Given the description of an element on the screen output the (x, y) to click on. 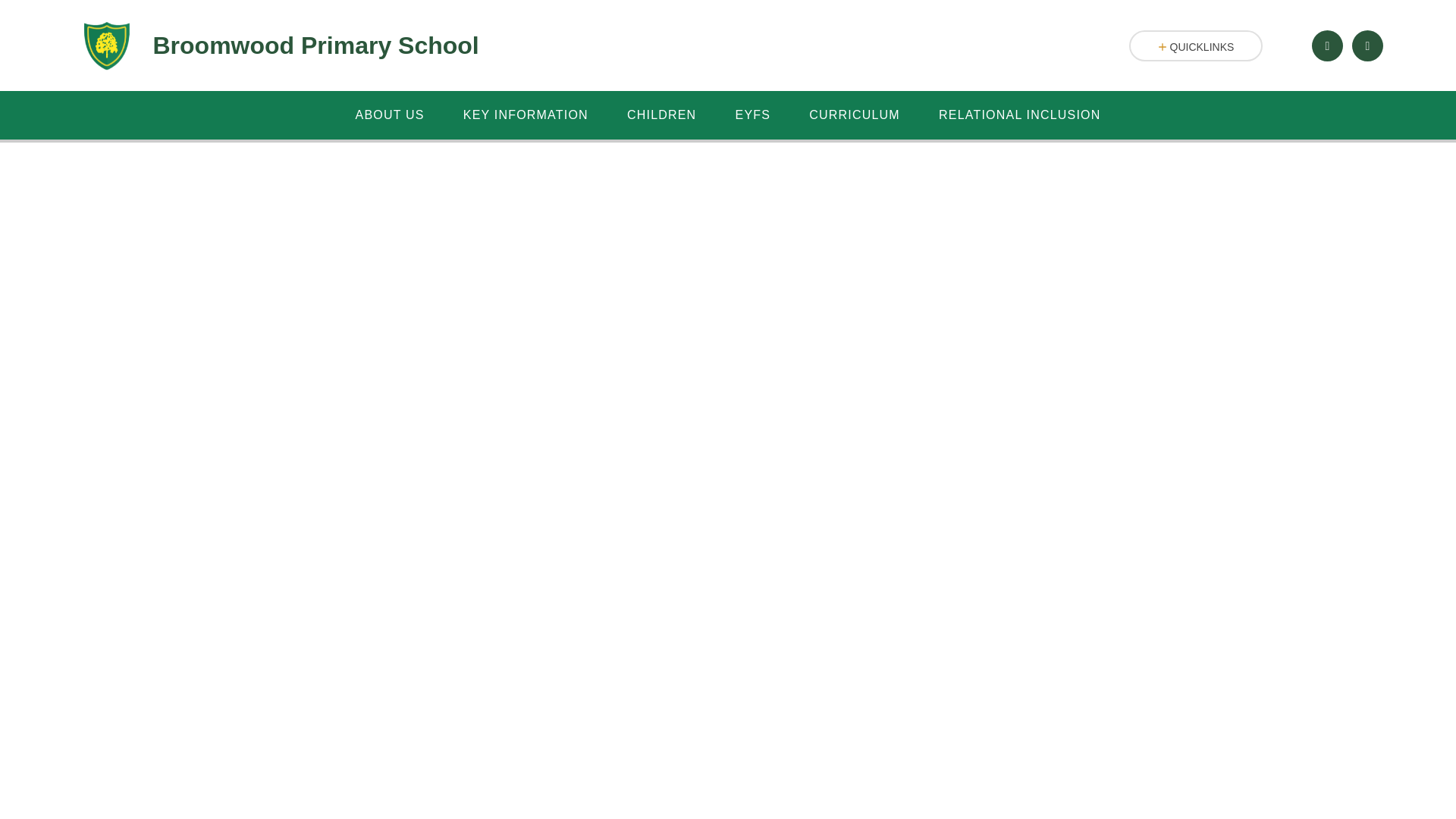
Broomwood Primary School (275, 45)
KEY INFORMATION (525, 114)
ABOUT US (390, 114)
